Given the description of an element on the screen output the (x, y) to click on. 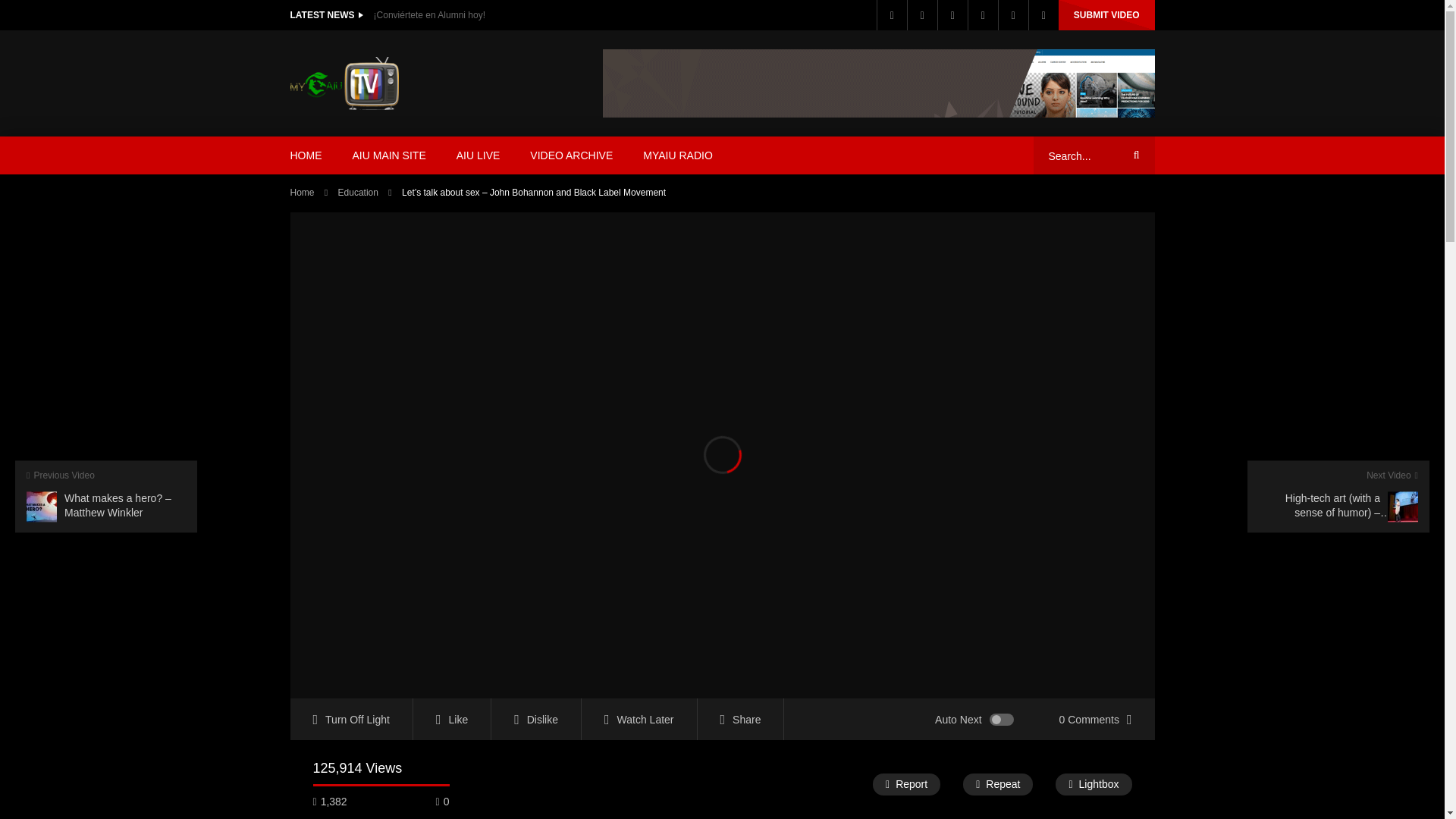
Watch later (982, 15)
VIDEO ARCHIVE (571, 155)
Search (1133, 155)
HOME (305, 155)
AIU LIVE (478, 155)
MYAIU RADIO (677, 155)
Twitter (922, 15)
AIU MAIN SITE (388, 155)
Search (1133, 155)
Google Plus (952, 15)
SUBMIT VIDEO (1106, 15)
0 Comments (1095, 719)
Facebook (891, 15)
